Given the description of an element on the screen output the (x, y) to click on. 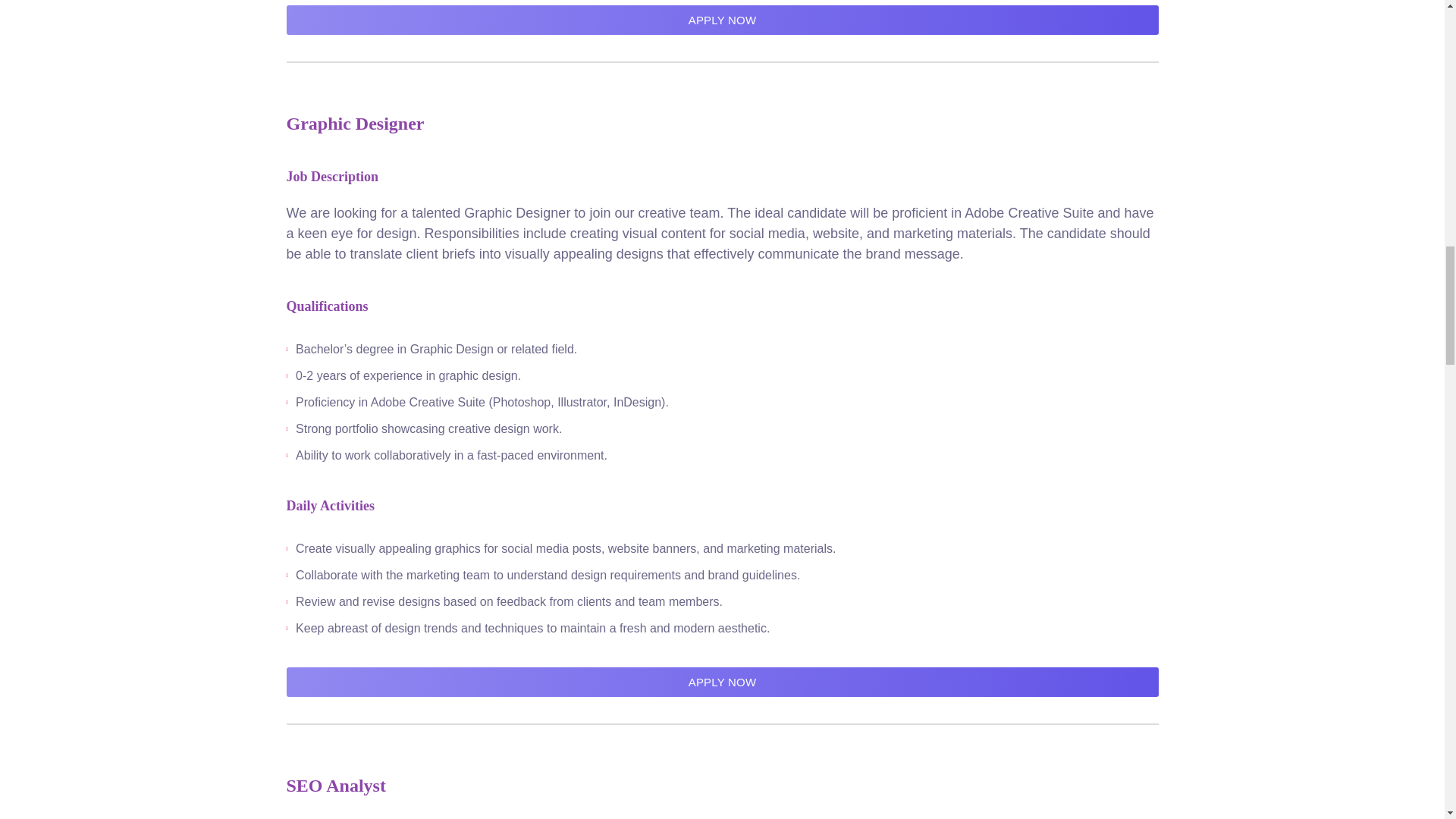
APPLY NOW (722, 681)
APPLY NOW (722, 19)
